Given the description of an element on the screen output the (x, y) to click on. 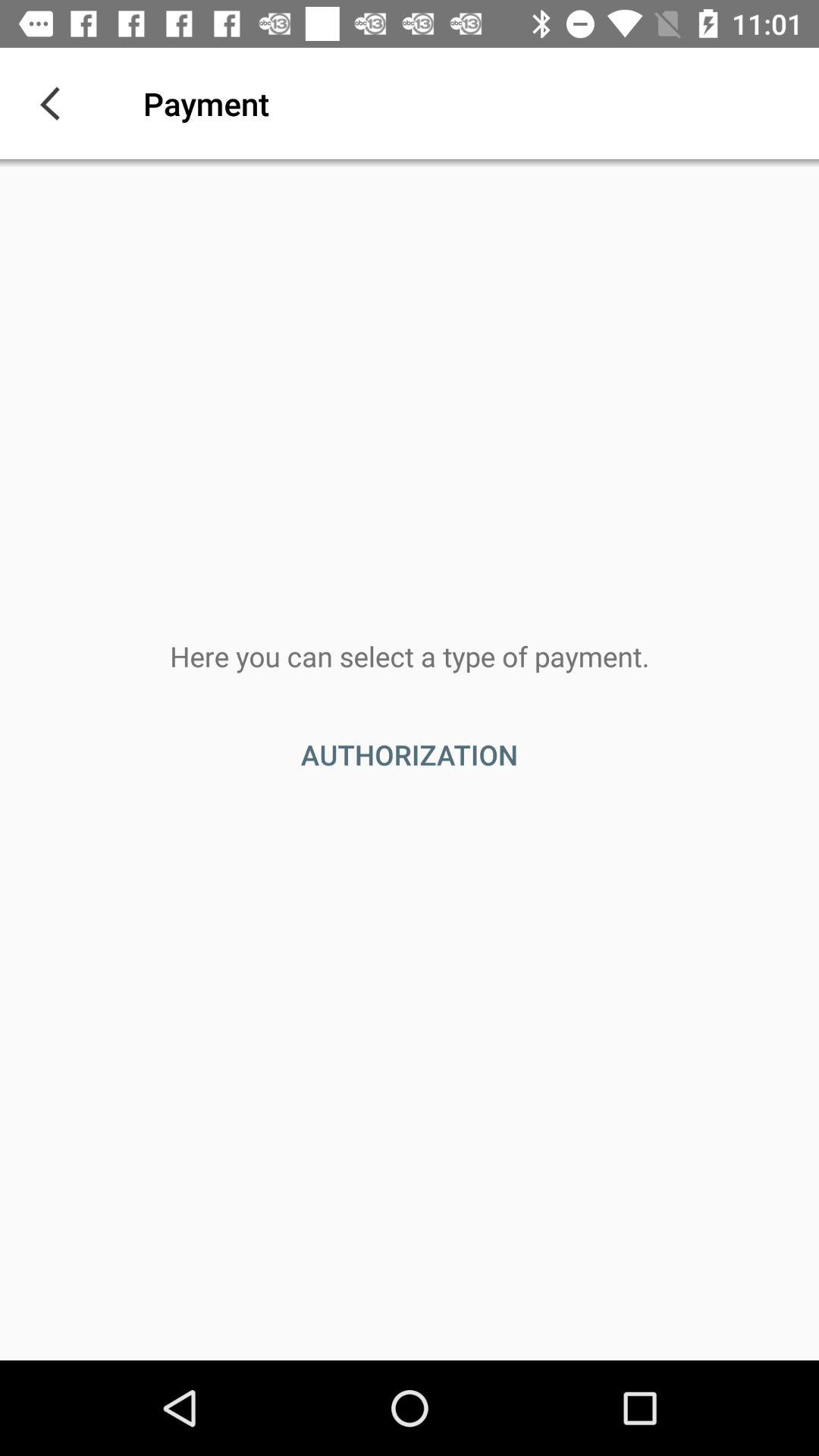
launch the icon to the left of payment (55, 103)
